Given the description of an element on the screen output the (x, y) to click on. 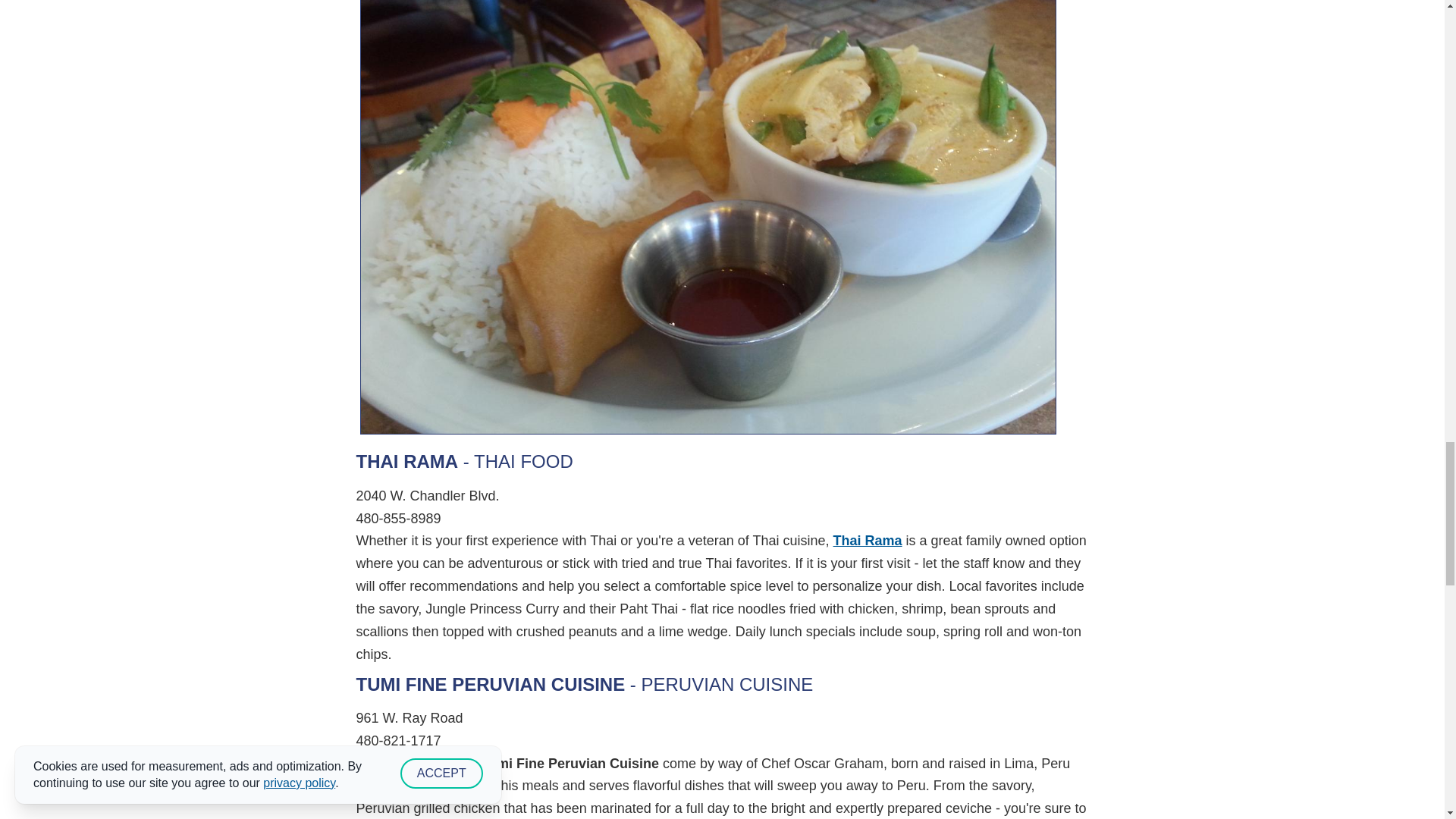
Thai Rama in Chandler AZ  (867, 540)
